Given the description of an element on the screen output the (x, y) to click on. 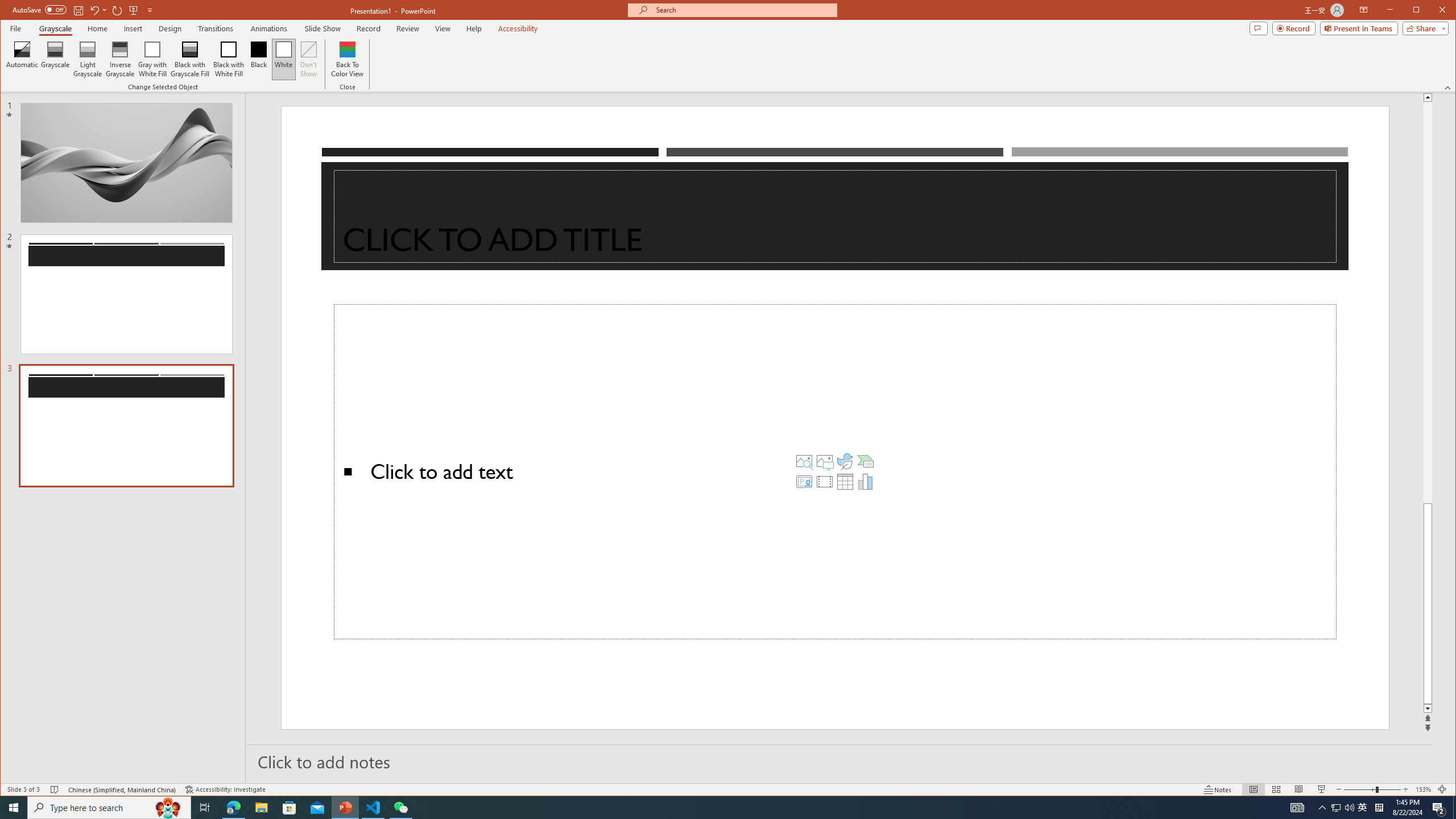
Don't Show (308, 59)
Insert an Icon (844, 461)
White (283, 59)
